Given the description of an element on the screen output the (x, y) to click on. 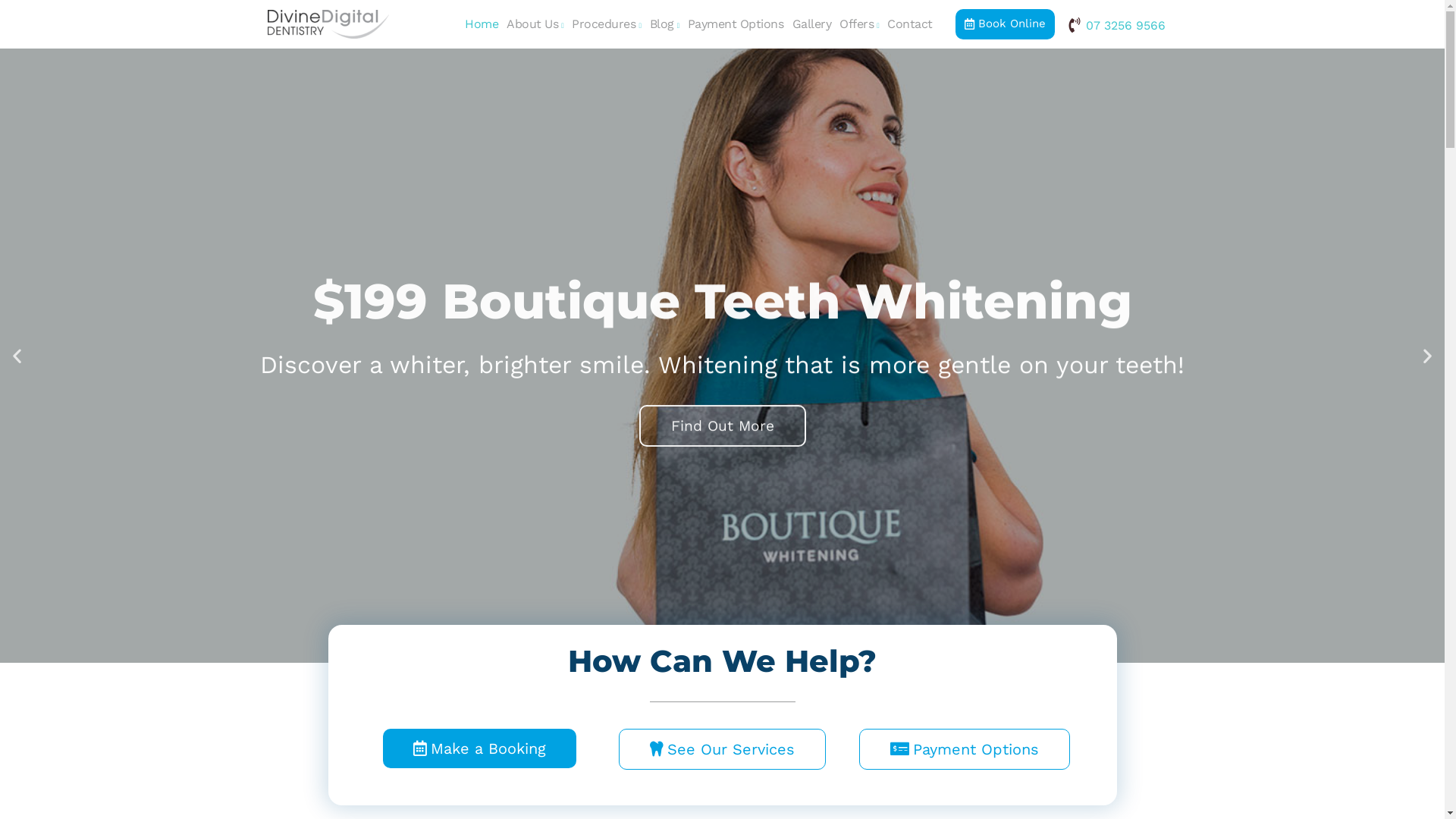
Blog Element type: text (664, 24)
Offers Element type: text (859, 24)
Book Online Element type: text (1004, 24)
Make a Booking Element type: text (479, 748)
Home Element type: text (481, 24)
Gallery Element type: text (811, 24)
Procedures Element type: text (606, 24)
Contact Element type: text (910, 24)
About Us Element type: text (534, 24)
See Our Services Element type: text (721, 748)
07 3256 9566 Element type: text (1115, 24)
Payment Options Element type: text (735, 24)
Payment Options Element type: text (964, 748)
